Given the description of an element on the screen output the (x, y) to click on. 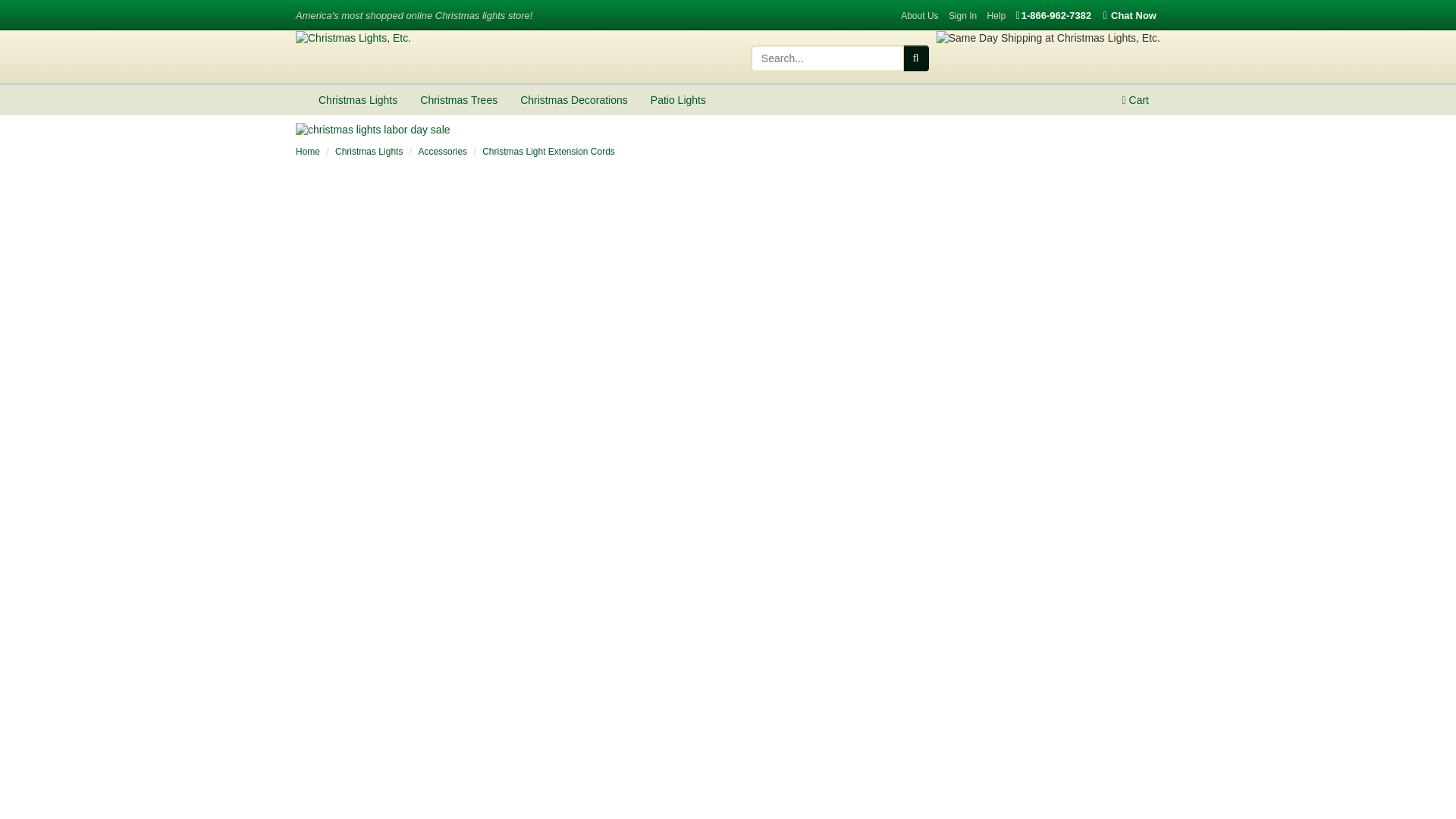
Sign In (962, 15)
Help (996, 15)
Christmas Lights (358, 100)
Christmas Trees (458, 100)
Christmas Decorations (573, 100)
About Us (919, 15)
Patio Lights (678, 100)
